Given the description of an element on the screen output the (x, y) to click on. 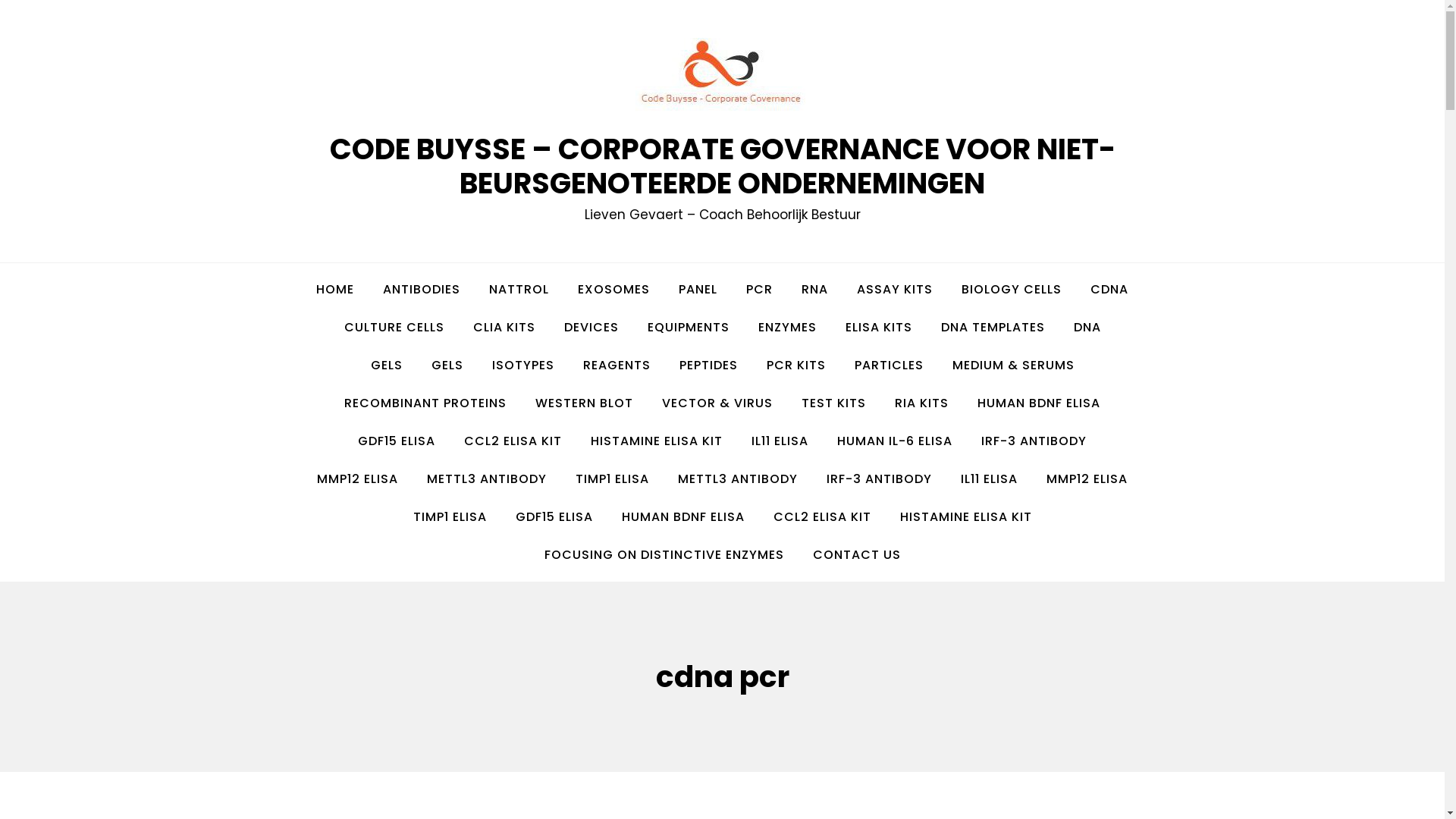
VECTOR & VIRUS Element type: text (717, 403)
RNA Element type: text (814, 289)
IL11 ELISA Element type: text (988, 479)
CLIA KITS Element type: text (503, 327)
RIA KITS Element type: text (921, 403)
ANTIBODIES Element type: text (421, 289)
CULTURE CELLS Element type: text (393, 327)
IRF-3 ANTIBODY Element type: text (1033, 441)
PARTICLES Element type: text (888, 365)
MMP12 ELISA Element type: text (1086, 479)
CONTACT US Element type: text (856, 555)
FOCUSING ON DISTINCTIVE ENZYMES Element type: text (663, 555)
CCL2 ELISA KIT Element type: text (512, 441)
ELISA KITS Element type: text (878, 327)
PCR KITS Element type: text (795, 365)
ISOTYPES Element type: text (523, 365)
EXOSOMES Element type: text (613, 289)
PEPTIDES Element type: text (707, 365)
TEST KITS Element type: text (833, 403)
PCR Element type: text (759, 289)
DNA TEMPLATES Element type: text (992, 327)
DEVICES Element type: text (590, 327)
ENZYMES Element type: text (786, 327)
ASSAY KITS Element type: text (894, 289)
CDNA Element type: text (1109, 289)
METTL3 ANTIBODY Element type: text (737, 479)
RECOMBINANT PROTEINS Element type: text (425, 403)
HISTAMINE ELISA KIT Element type: text (965, 517)
HUMAN BDNF ELISA Element type: text (682, 517)
BIOLOGY CELLS Element type: text (1011, 289)
HUMAN BDNF ELISA Element type: text (1038, 403)
GELS Element type: text (386, 365)
GDF15 ELISA Element type: text (396, 441)
HISTAMINE ELISA KIT Element type: text (656, 441)
IRF-3 ANTIBODY Element type: text (878, 479)
GELS Element type: text (447, 365)
HOME Element type: text (335, 289)
METTL3 ANTIBODY Element type: text (486, 479)
CCL2 ELISA KIT Element type: text (821, 517)
TIMP1 ELISA Element type: text (449, 517)
EQUIPMENTS Element type: text (687, 327)
WESTERN BLOT Element type: text (584, 403)
MMP12 ELISA Element type: text (357, 479)
GDF15 ELISA Element type: text (553, 517)
HUMAN IL-6 ELISA Element type: text (894, 441)
PANEL Element type: text (697, 289)
MEDIUM & SERUMS Element type: text (1012, 365)
REAGENTS Element type: text (616, 365)
DNA Element type: text (1086, 327)
IL11 ELISA Element type: text (779, 441)
NATTROL Element type: text (518, 289)
TIMP1 ELISA Element type: text (612, 479)
